Given the description of an element on the screen output the (x, y) to click on. 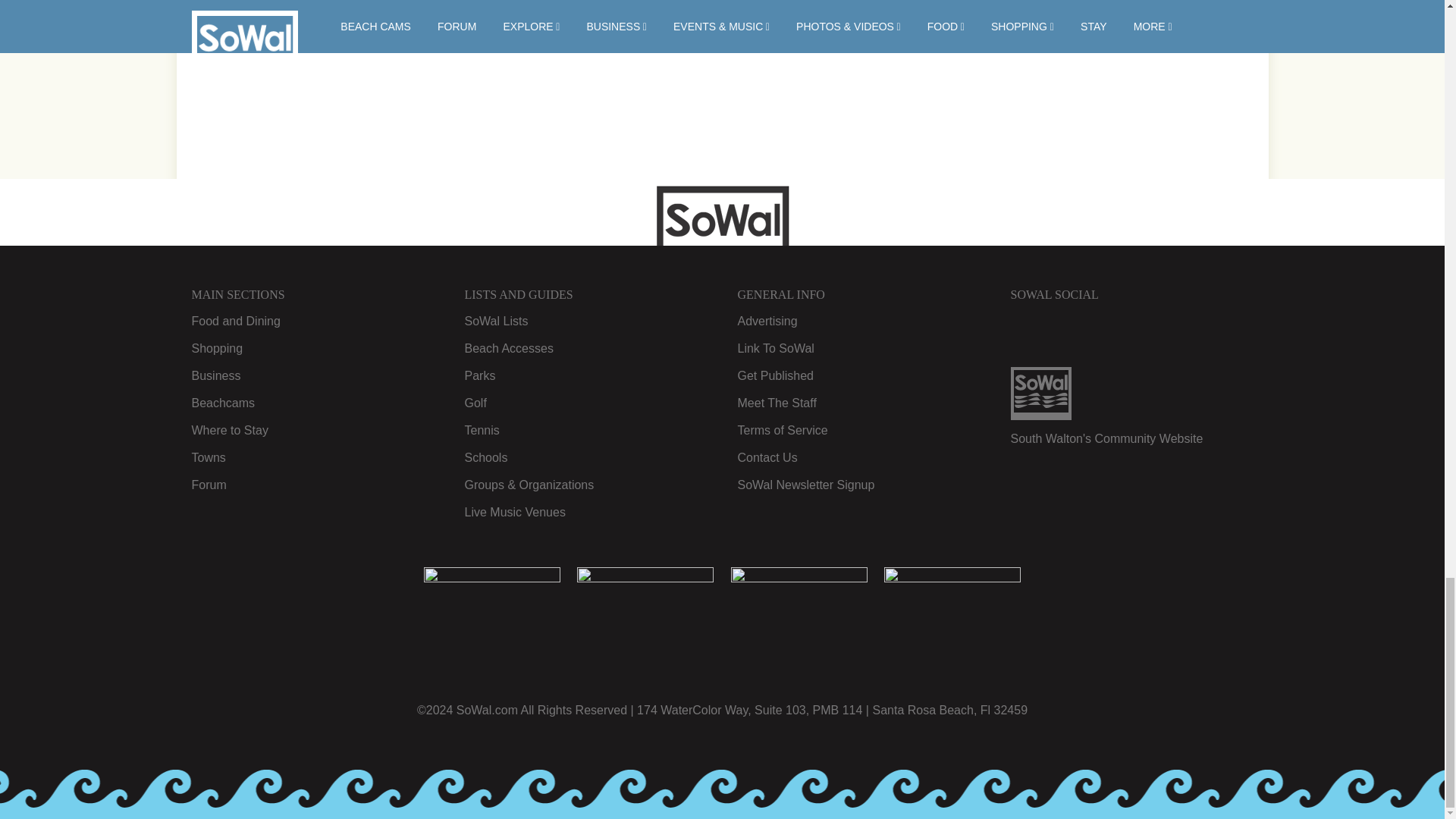
visit the SoWal events calendar (743, 15)
go to event calendar (498, 42)
